Given the description of an element on the screen output the (x, y) to click on. 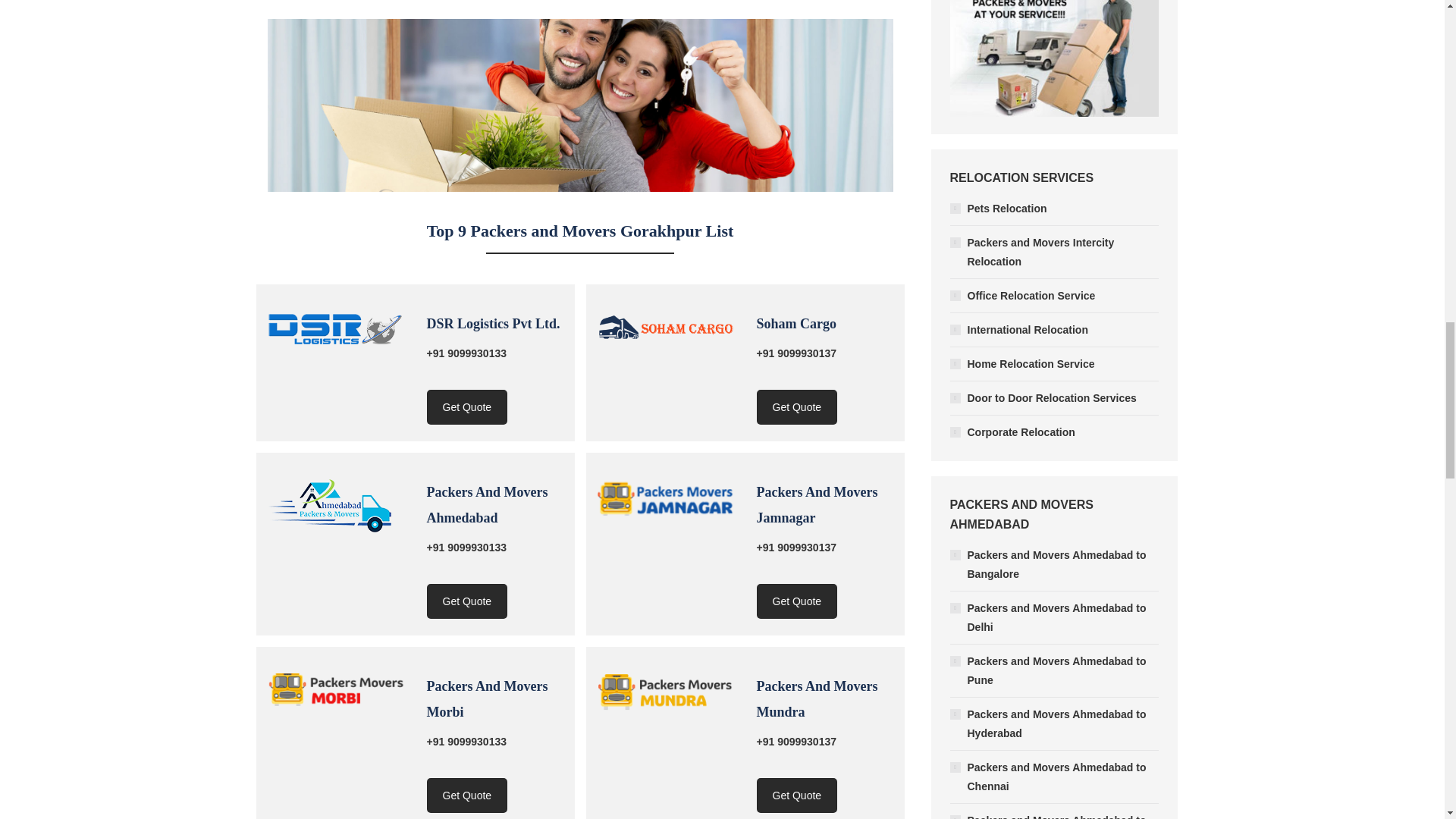
Enquiry (466, 407)
Enquiry (797, 601)
Enquiry (797, 407)
Enquiry (466, 601)
